Given the description of an element on the screen output the (x, y) to click on. 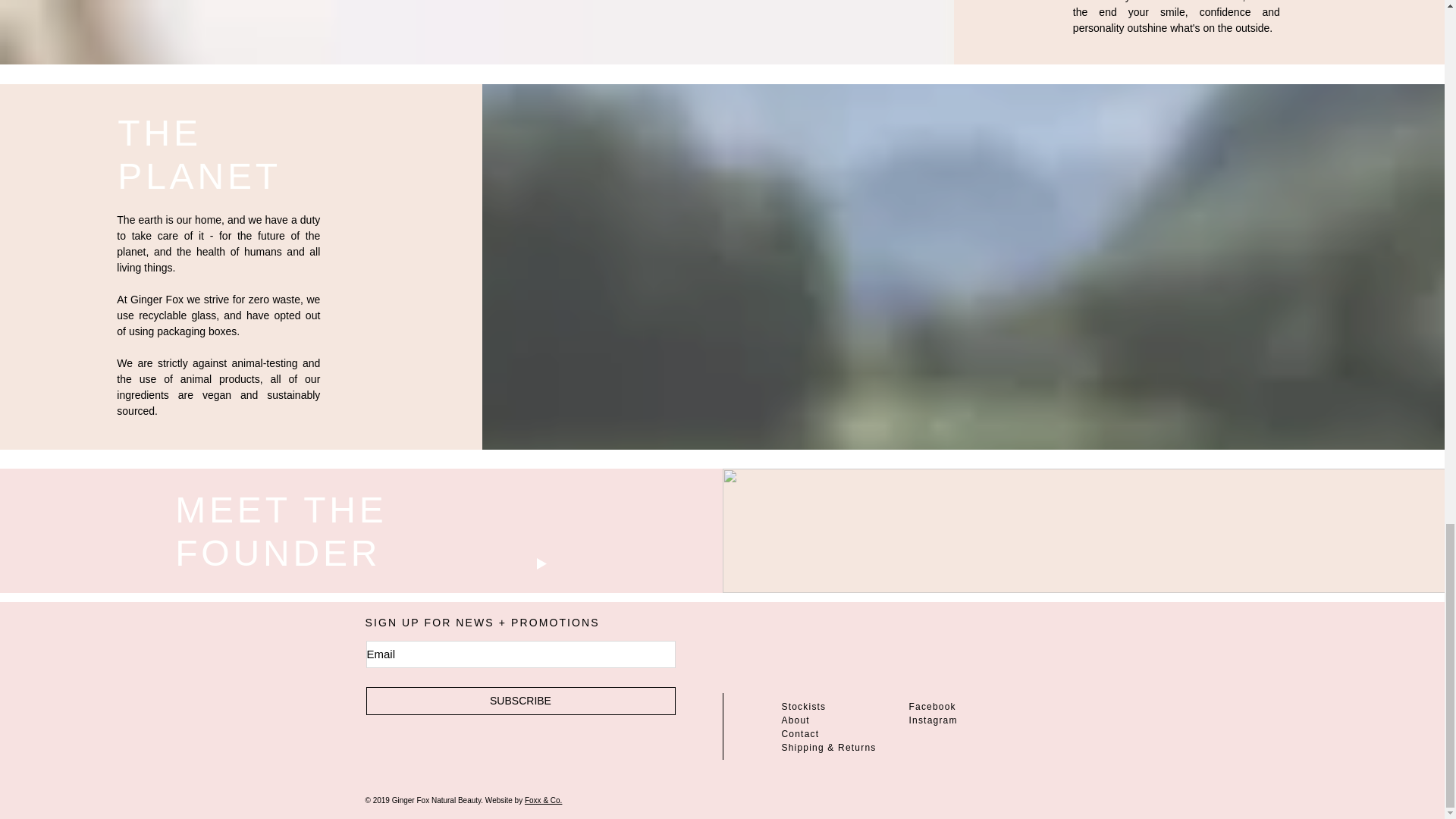
Facebook (931, 706)
SUBSCRIBE (520, 700)
MEET THE (280, 509)
Instagram (932, 719)
About (794, 719)
Contact (799, 733)
FOUNDER (277, 553)
Stockists (802, 706)
